Given the description of an element on the screen output the (x, y) to click on. 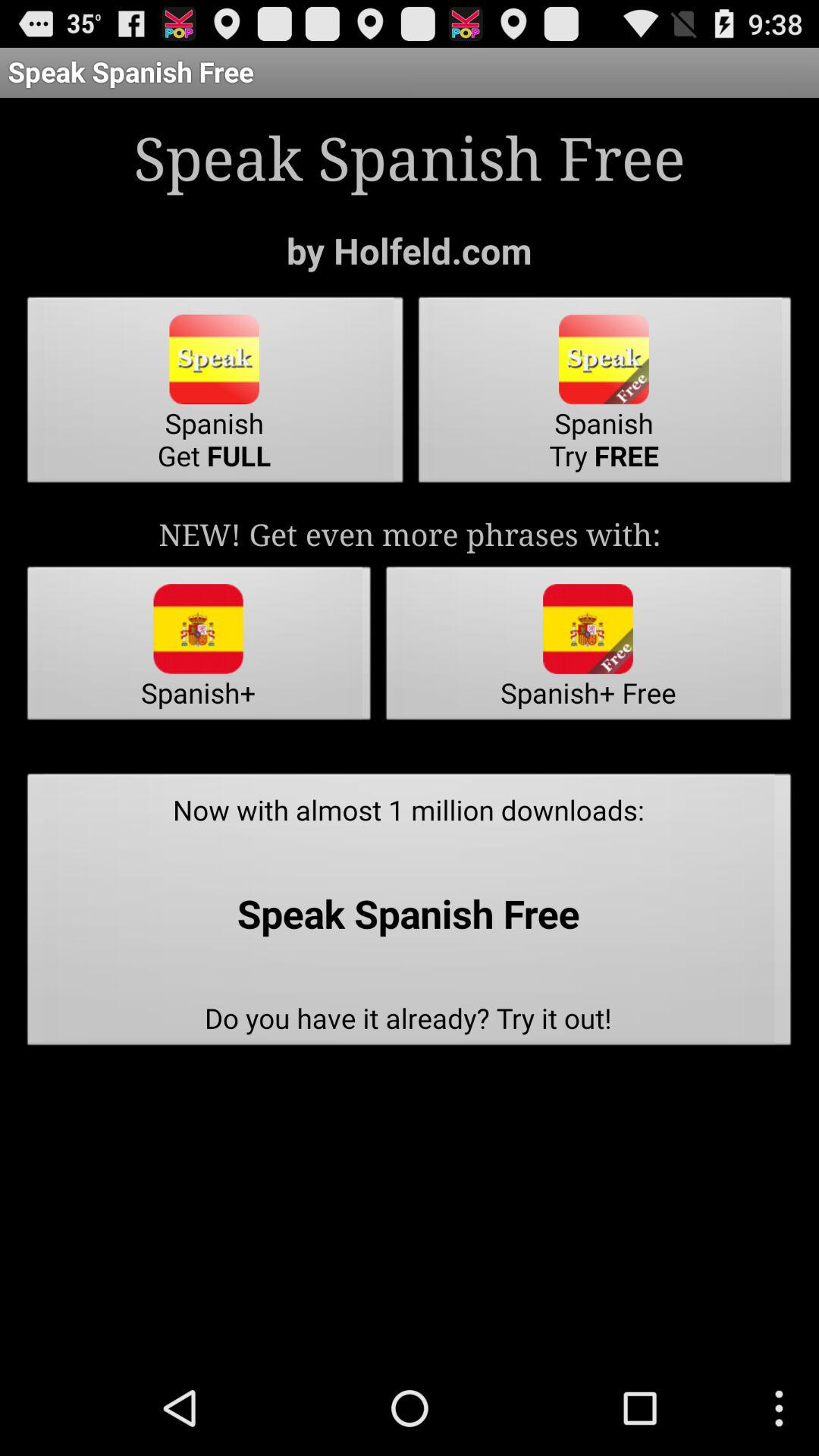
choose the app below the by holfeld.com item (215, 394)
